Given the description of an element on the screen output the (x, y) to click on. 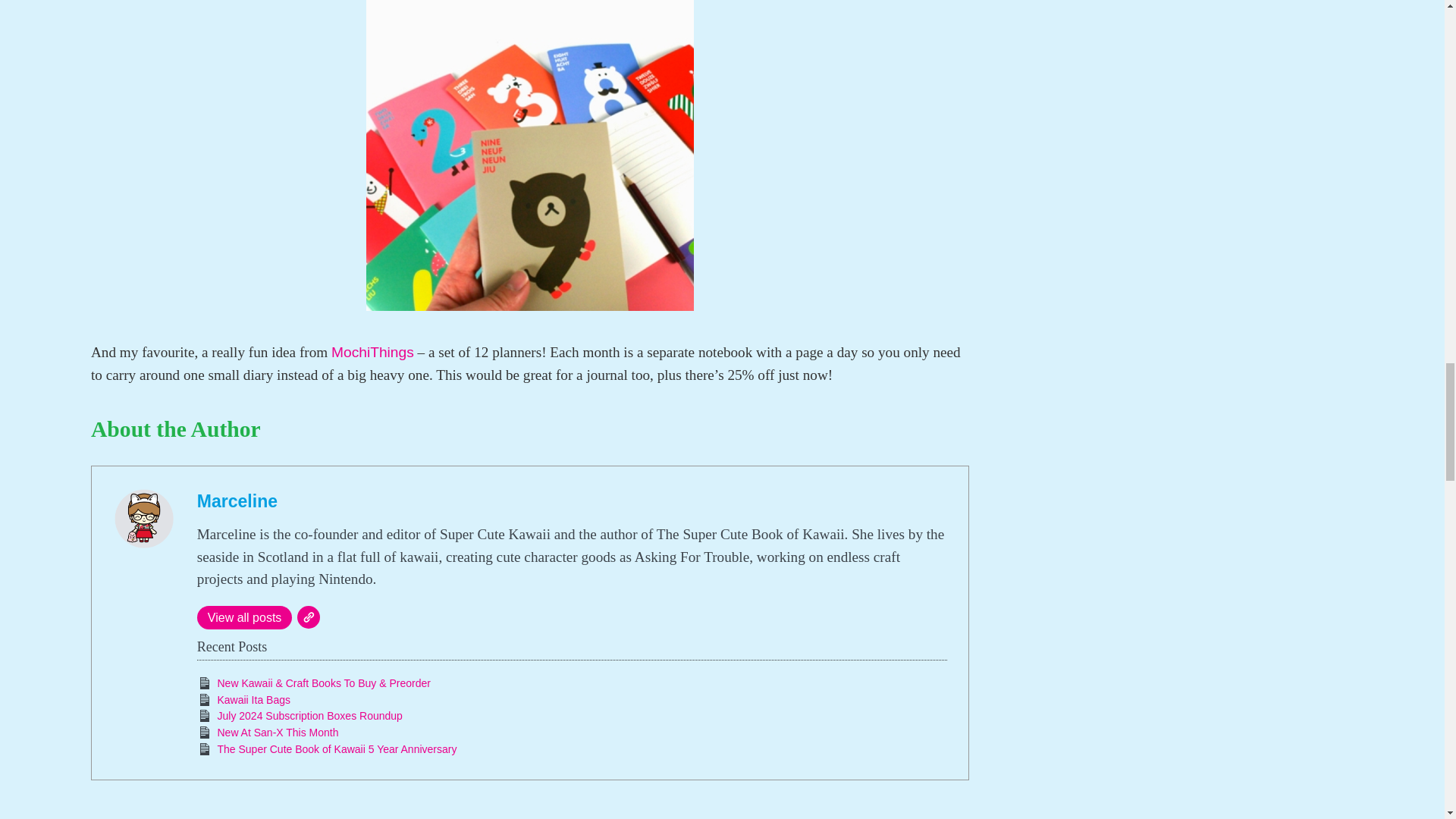
July 2024 Subscription Boxes Roundup (308, 715)
View all posts (244, 617)
New At San-X This Month (276, 732)
The Super Cute Book of Kawaii 5 Year Anniversary (336, 748)
Marceline (237, 501)
Kawaii Ita Bags (252, 699)
